Given the description of an element on the screen output the (x, y) to click on. 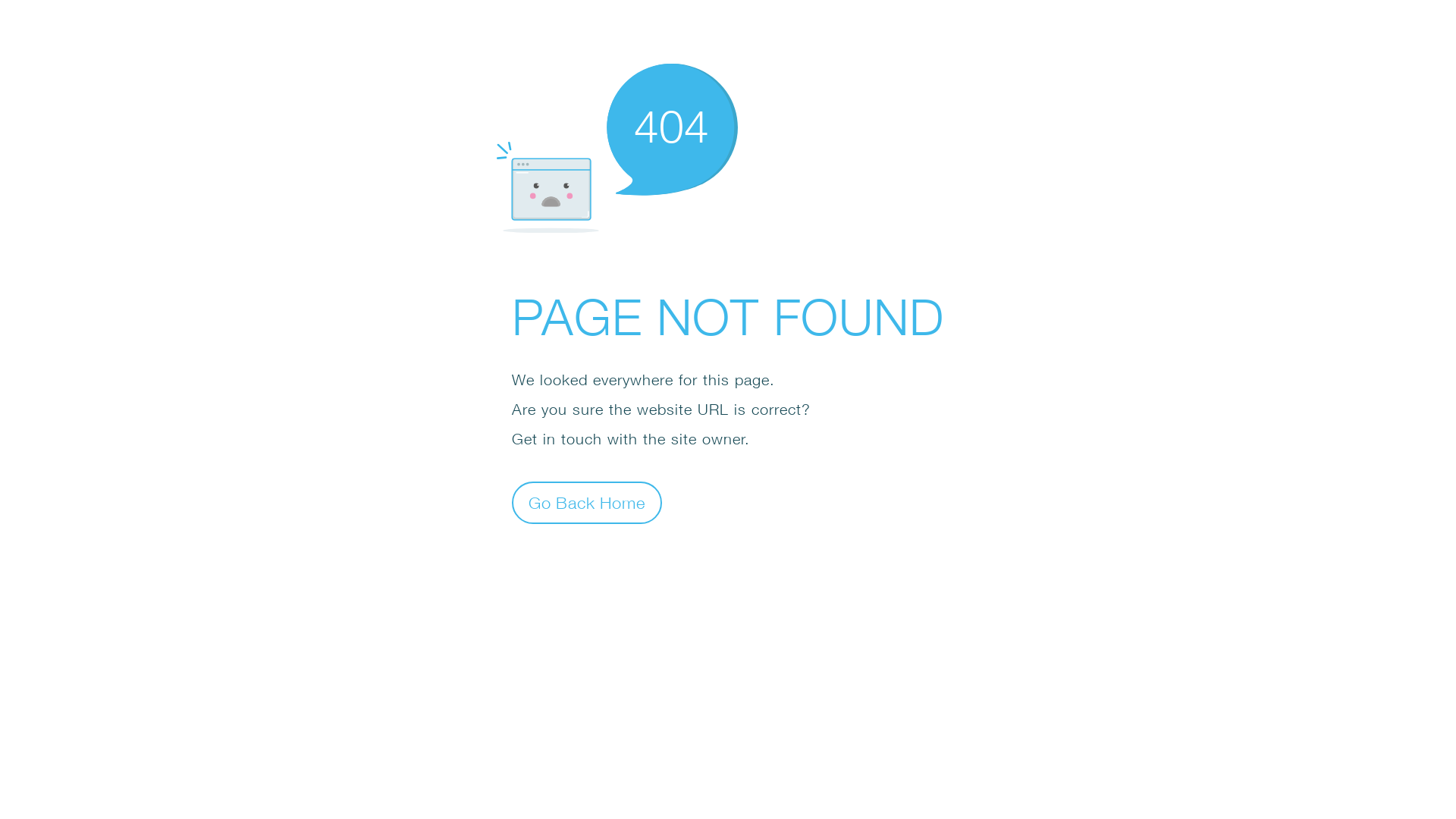
Go Back Home Element type: text (586, 502)
